Given the description of an element on the screen output the (x, y) to click on. 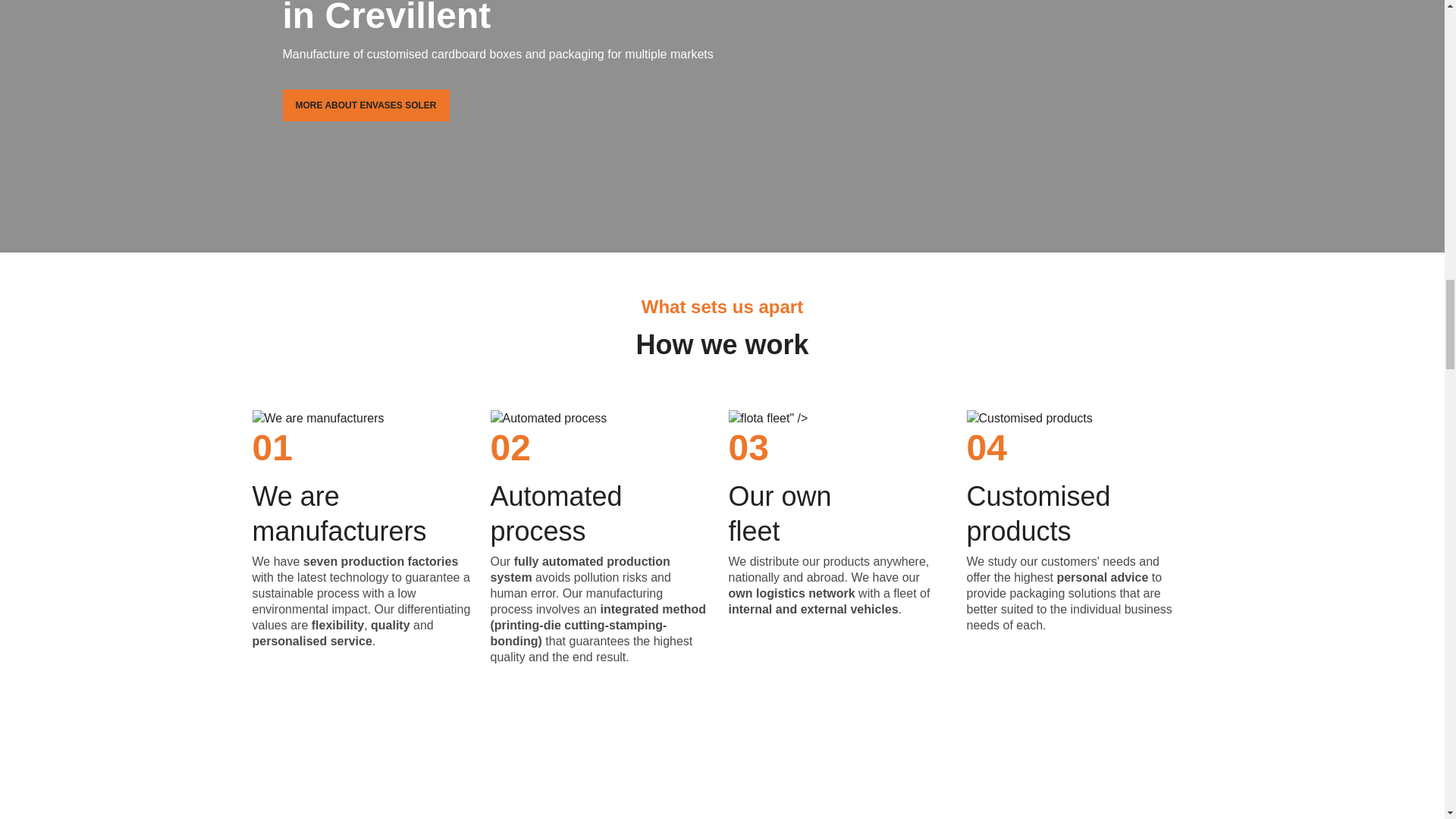
Main page 1 (317, 418)
Main page 2 (548, 418)
Main page 4 (1029, 418)
Main page 3 (747, 418)
